Given the description of an element on the screen output the (x, y) to click on. 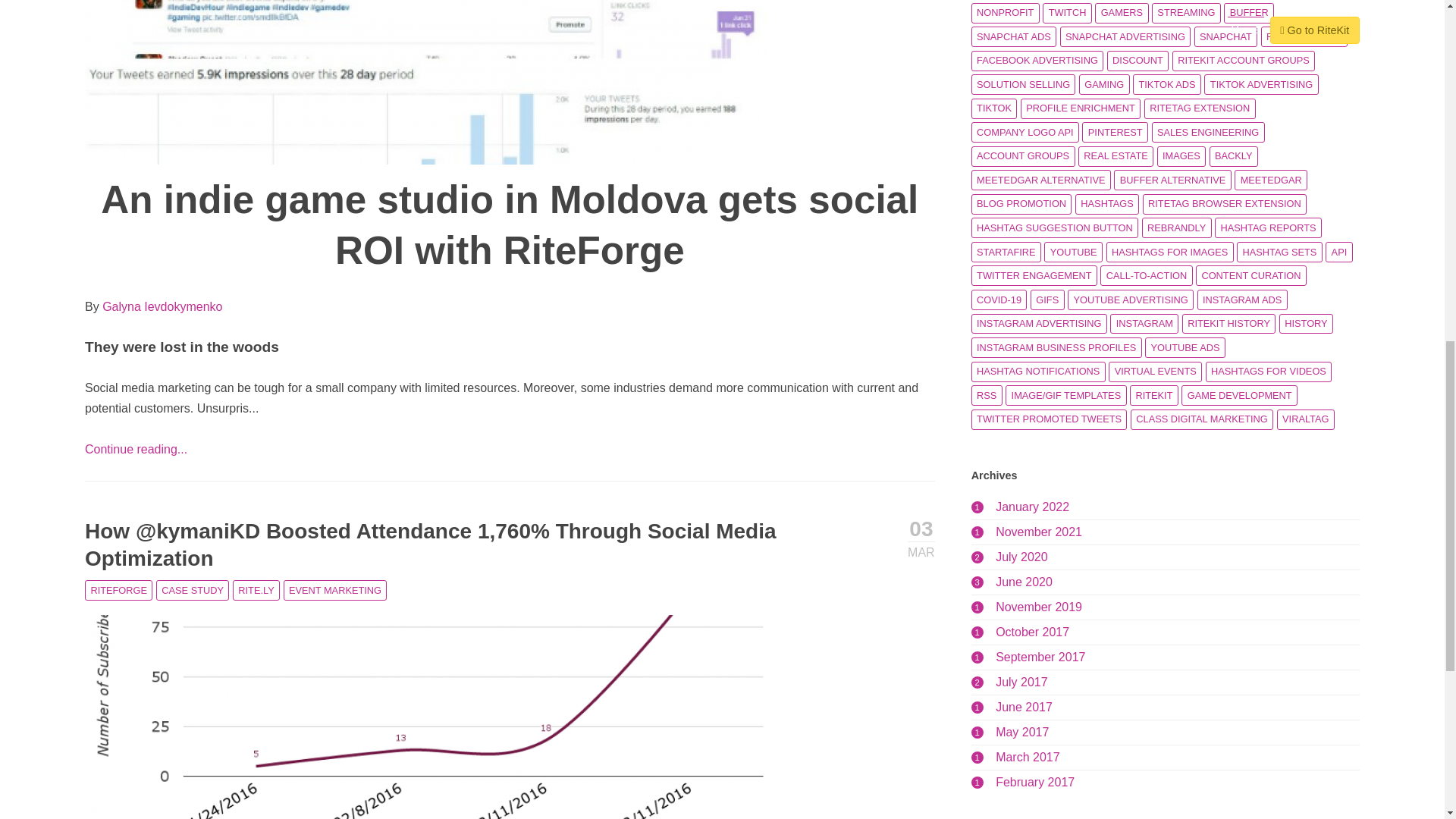
Galyna Ievdokymenko (161, 306)
Continue reading... (135, 449)
EVENT MARKETING (335, 589)
RITE.LY (255, 589)
CASE STUDY (192, 589)
RITEFORGE (118, 589)
